Given the description of an element on the screen output the (x, y) to click on. 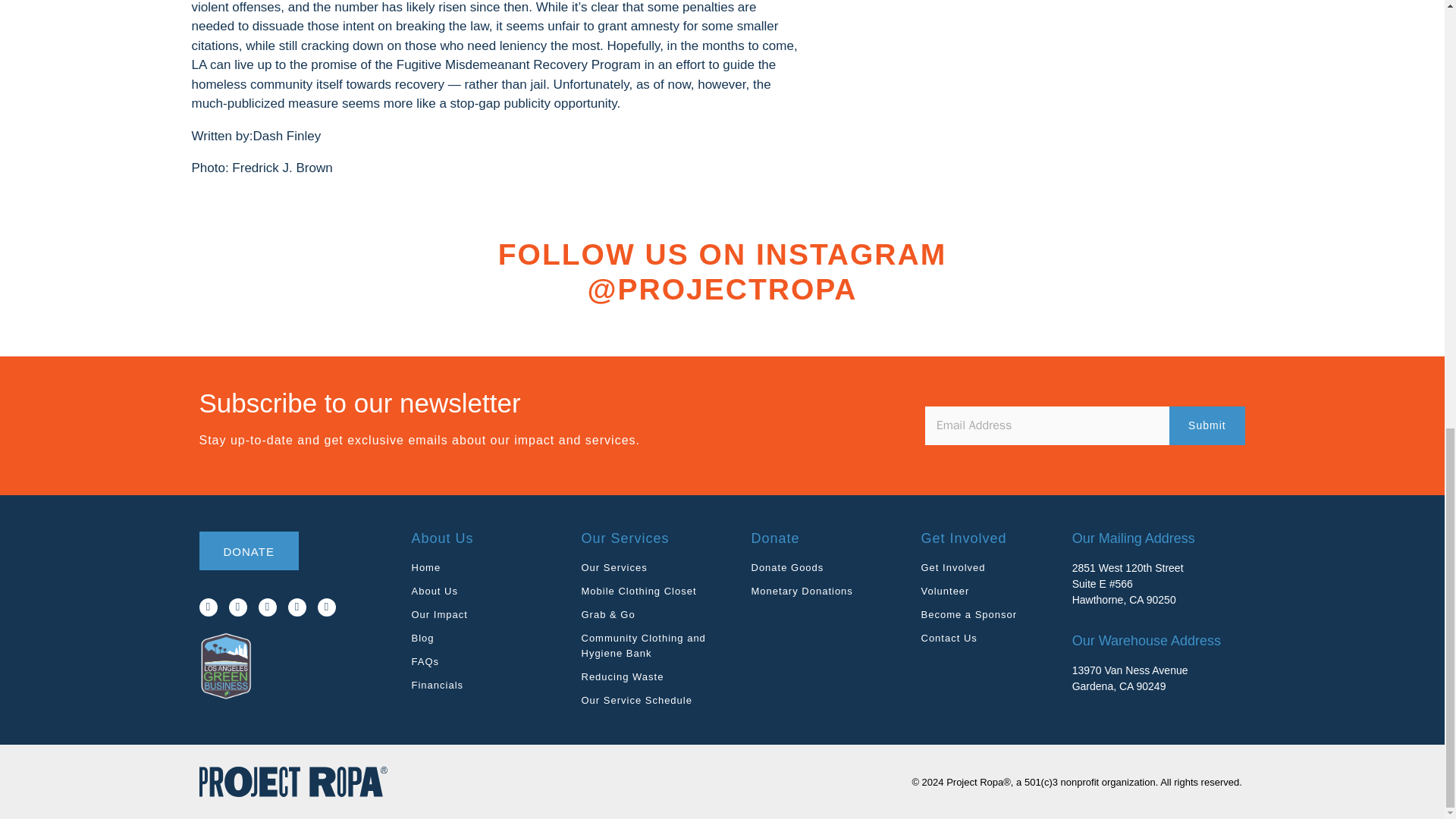
Submit (1206, 425)
